Given the description of an element on the screen output the (x, y) to click on. 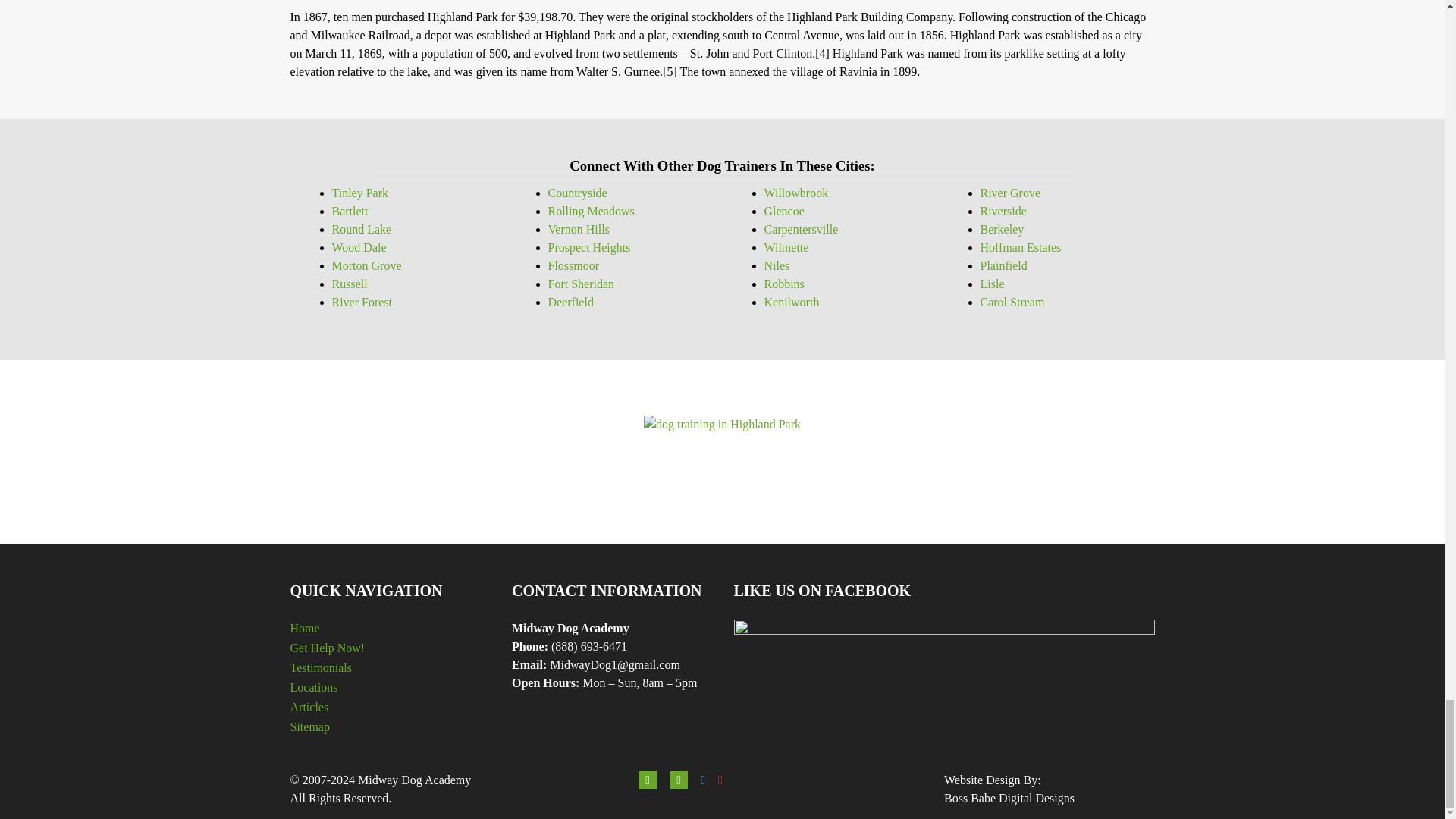
Russell (349, 283)
Bartlett (349, 210)
River Forest (362, 301)
Tinley Park (359, 192)
Morton Grove (366, 265)
Wood Dale (359, 246)
Round Lake (361, 228)
